Given the description of an element on the screen output the (x, y) to click on. 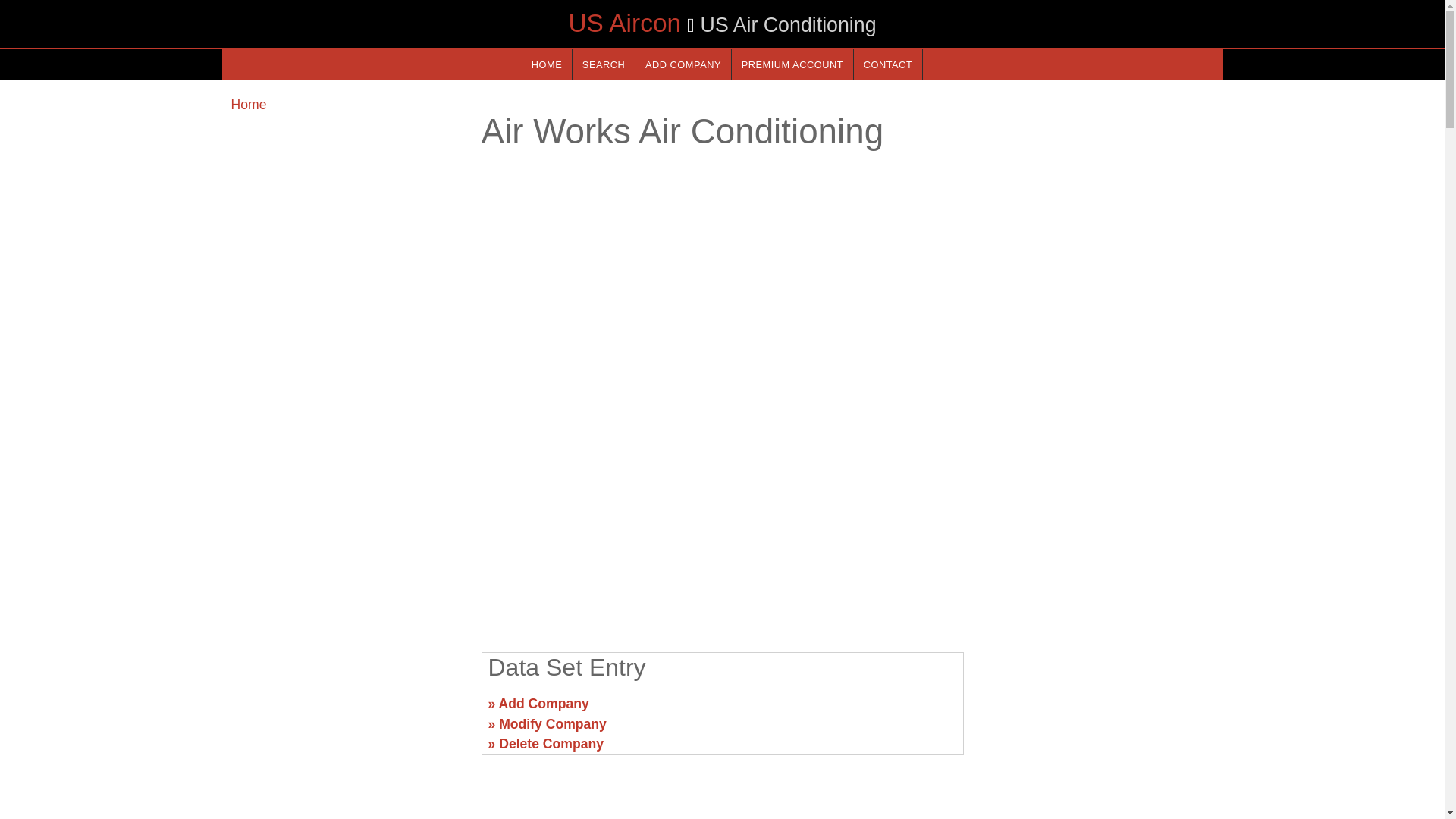
Advertisement (721, 522)
Advertisement (346, 710)
CONTACT (887, 64)
Search in this webseite. (603, 64)
Advertisement (1096, 710)
PREMIUM ACCOUNT (792, 64)
Home (248, 104)
Add a new company (682, 64)
HOME (546, 64)
SEARCH (603, 64)
